Given the description of an element on the screen output the (x, y) to click on. 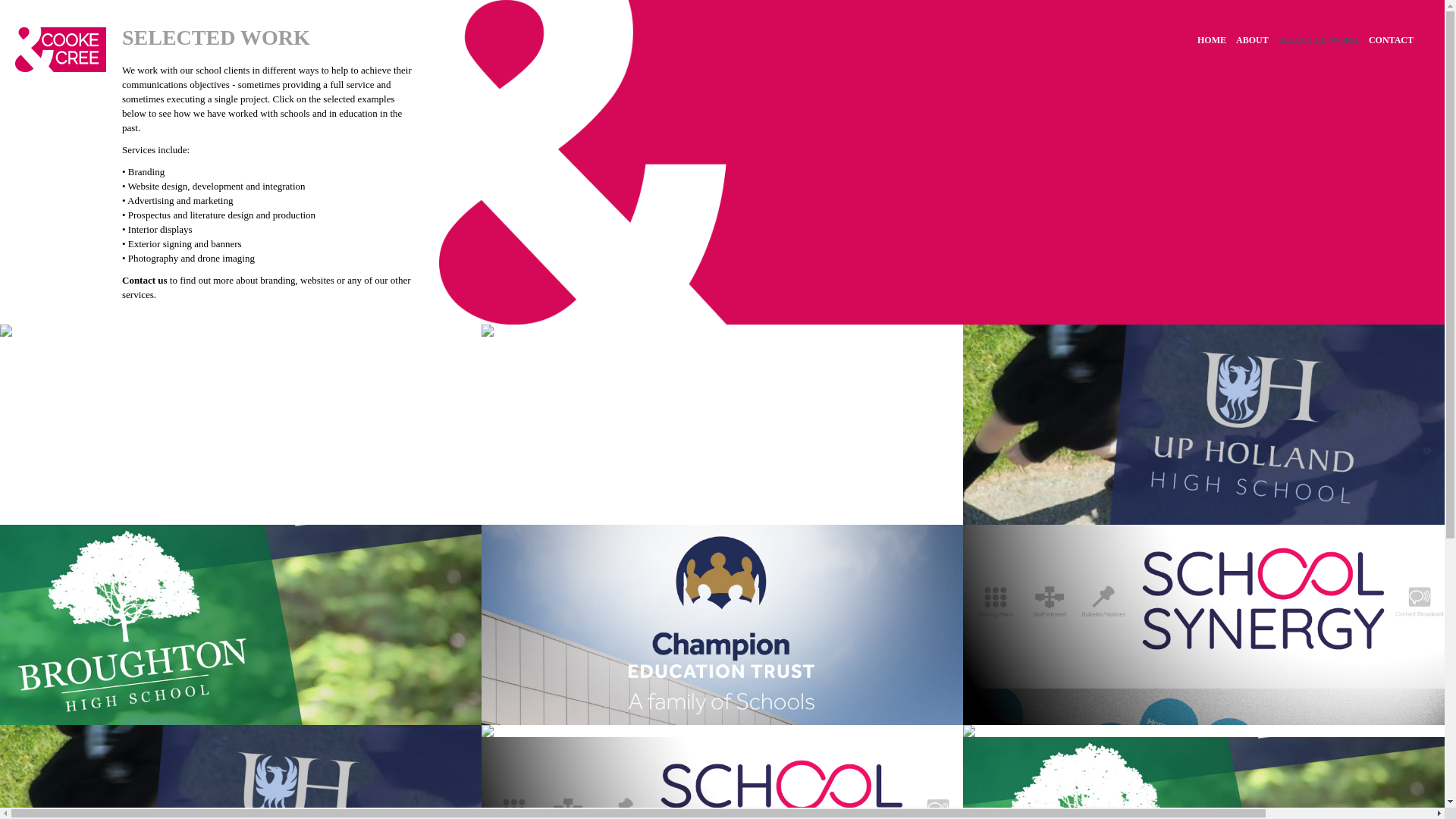
SELECTED WORK (1313, 39)
ABOUT (1246, 39)
CONTACT (1385, 39)
Contact us (144, 279)
HOME (1206, 39)
